Given the description of an element on the screen output the (x, y) to click on. 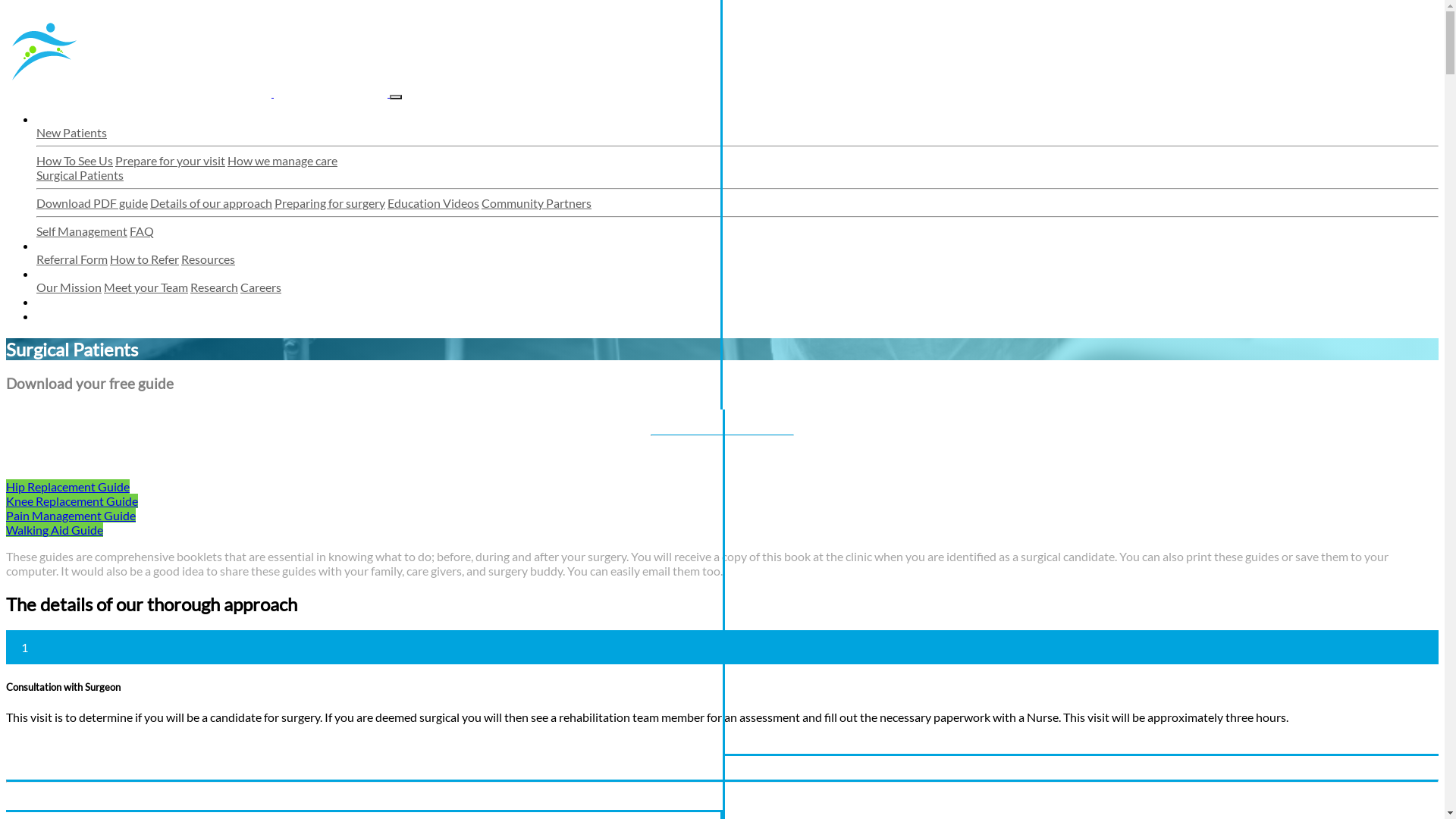
Knee Replacement Guide Element type: text (72, 500)
Surgical Patients Element type: text (79, 174)
Preparing for surgery Element type: text (329, 202)
Details of our approach Element type: text (211, 202)
Download PDF guide Element type: text (91, 202)
FAQ Element type: text (141, 230)
Prepare for your visit Element type: text (170, 160)
Education Videos Element type: text (433, 202)
Research Element type: text (214, 286)
Meet your Team Element type: text (145, 286)
Community Partners Element type: text (536, 202)
About Us Element type: text (61, 273)
Resources Element type: text (208, 258)
Our Mission Element type: text (68, 286)
Walking Aid Guide Element type: text (54, 529)
Self Management Element type: text (81, 230)
Hip Replacement Guide Element type: text (67, 486)
Pain Management Guide Element type: text (70, 515)
How To See Us Element type: text (74, 160)
How to Refer Element type: text (143, 258)
How we manage care Element type: text (282, 160)
For Providers Element type: text (71, 245)
Teaching Videos Element type: text (78, 301)
Careers Element type: text (260, 286)
For Patients Element type: text (68, 118)
Referral Form Element type: text (71, 258)
Contact Element type: text (57, 315)
New Patients Element type: text (71, 132)
